Given the description of an element on the screen output the (x, y) to click on. 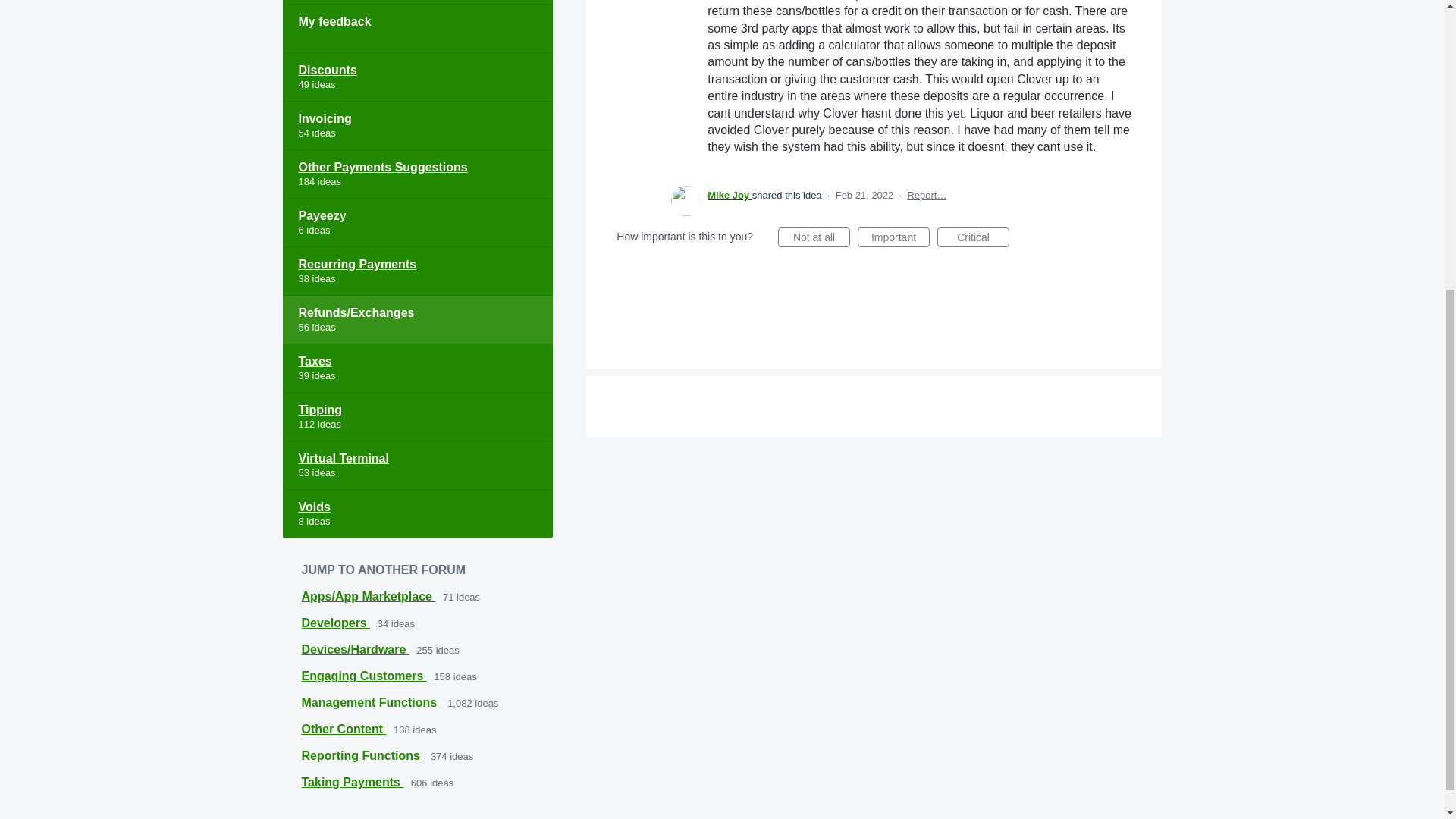
View all ideas in Reporting Functions (362, 755)
View all ideas in category Recurring Payments (417, 271)
Developers (336, 622)
All ideas (417, 2)
View all ideas in category Discounts (417, 77)
View all ideas in category Payeezy (417, 223)
Engaging Customers (363, 675)
Management Functions (371, 702)
Invoicing (417, 125)
View all ideas in category Taxes (417, 368)
